Given the description of an element on the screen output the (x, y) to click on. 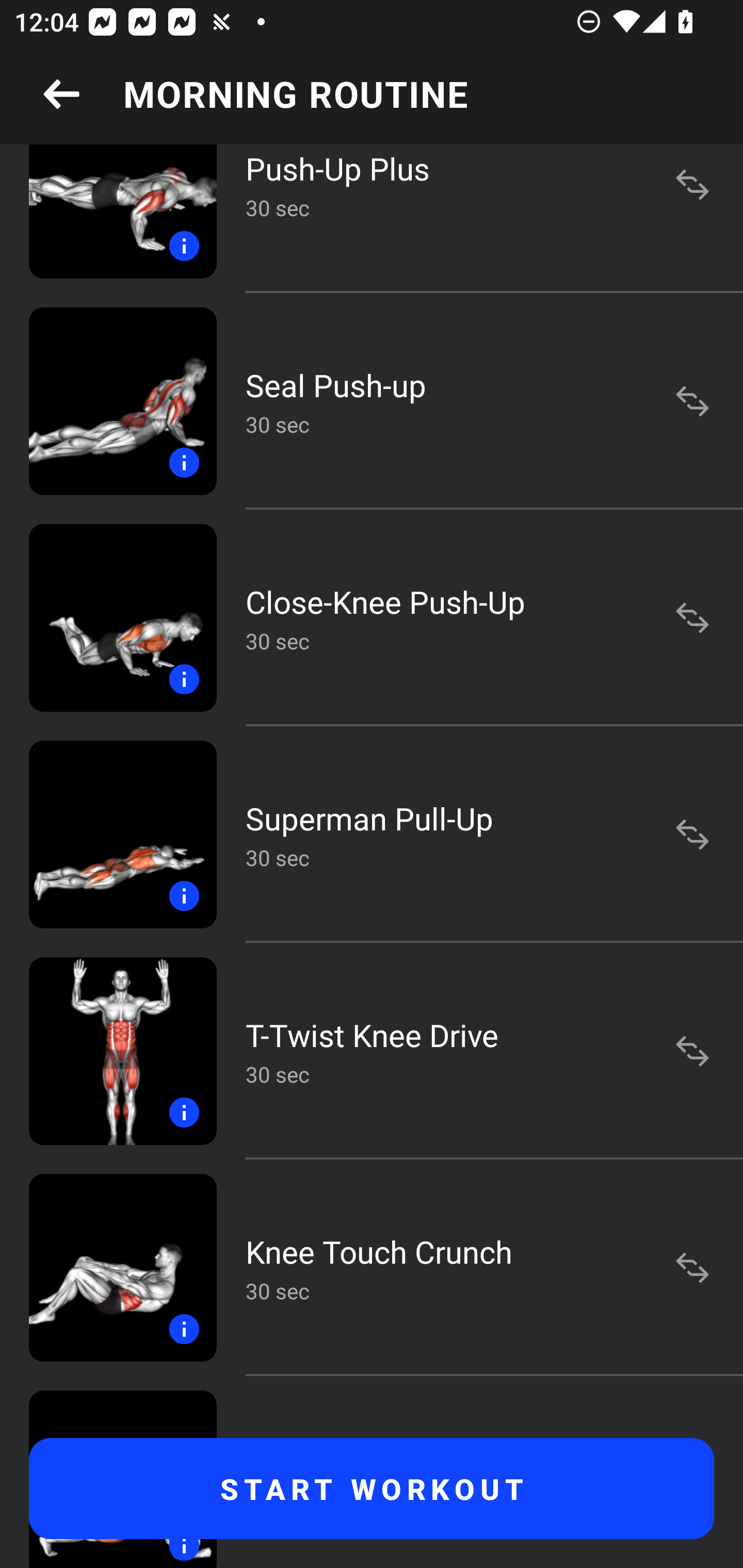
Push-Up Plus 30 sec (371, 218)
Seal Push-up 30 sec (371, 401)
Close-Knee Push-Up 30 sec (371, 617)
Superman Pull-Up 30 sec (371, 833)
T-Twist Knee Drive 30 sec (371, 1050)
Knee Touch Crunch 30 sec (371, 1267)
START WORKOUT (371, 1488)
